Given the description of an element on the screen output the (x, y) to click on. 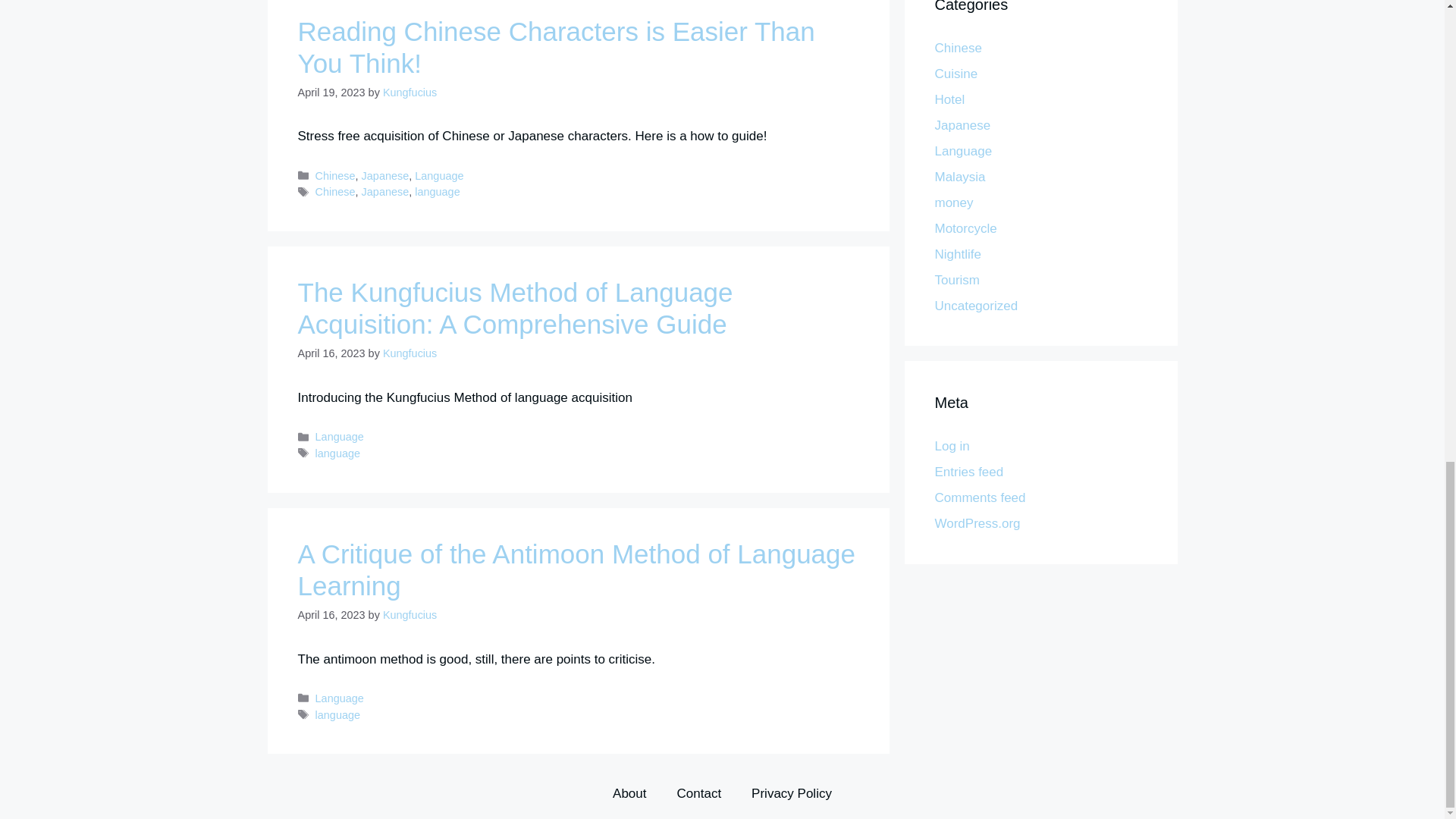
Chinese (335, 191)
Language (339, 436)
View all posts by Kungfucius (409, 92)
A Critique of the Antimoon Method of Language Learning (576, 569)
View all posts by Kungfucius (409, 353)
language (337, 453)
Kungfucius (409, 614)
Reading Chinese Characters is Easier Than You Think! (555, 45)
Chinese (335, 175)
Japanese (385, 175)
